Given the description of an element on the screen output the (x, y) to click on. 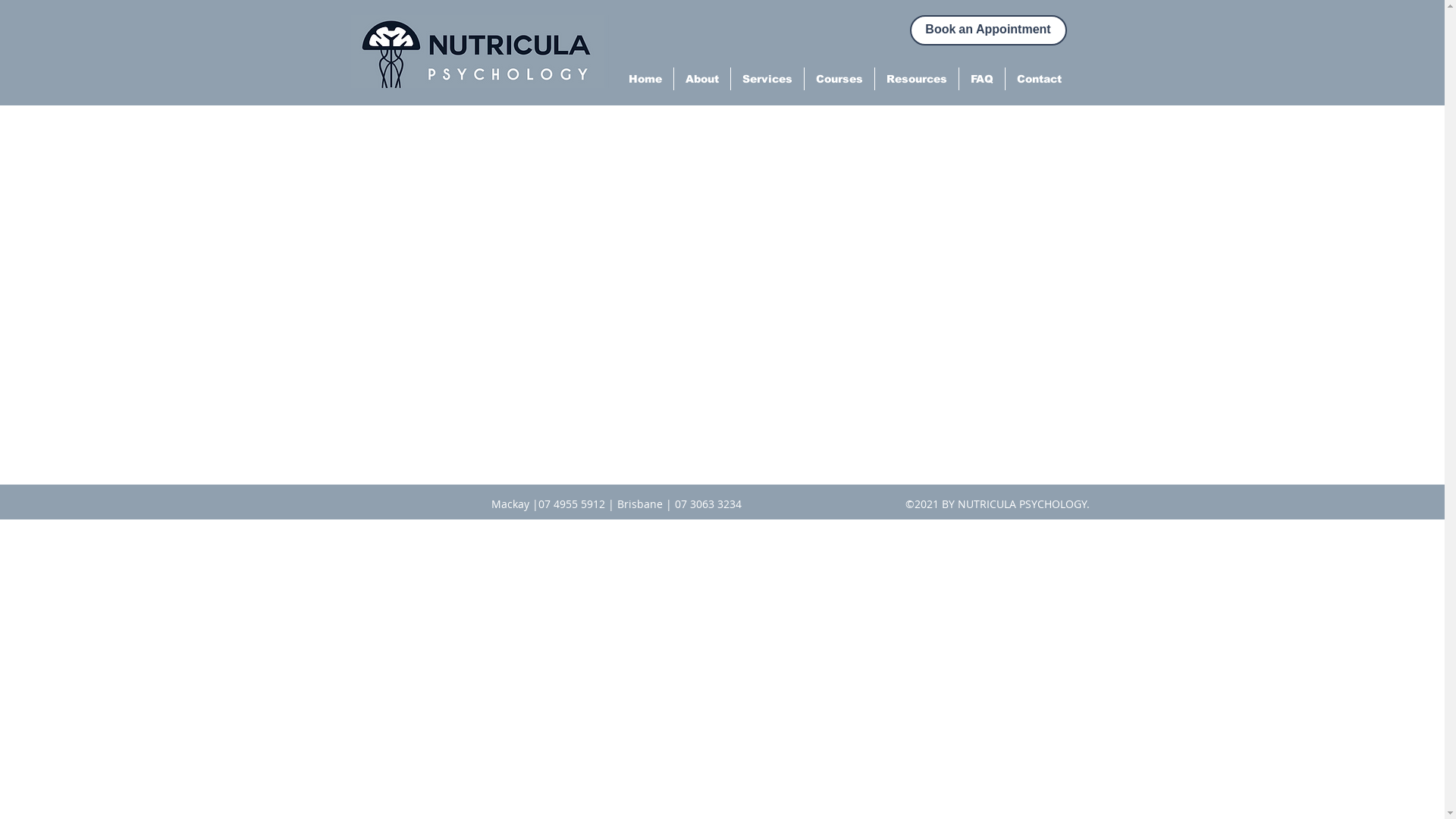
Services Element type: text (767, 78)
Courses Element type: text (838, 78)
Resources Element type: text (916, 78)
Home Element type: text (645, 78)
Book an Appointment Element type: text (988, 30)
Contact Element type: text (1039, 78)
About Element type: text (701, 78)
FAQ Element type: text (981, 78)
